Given the description of an element on the screen output the (x, y) to click on. 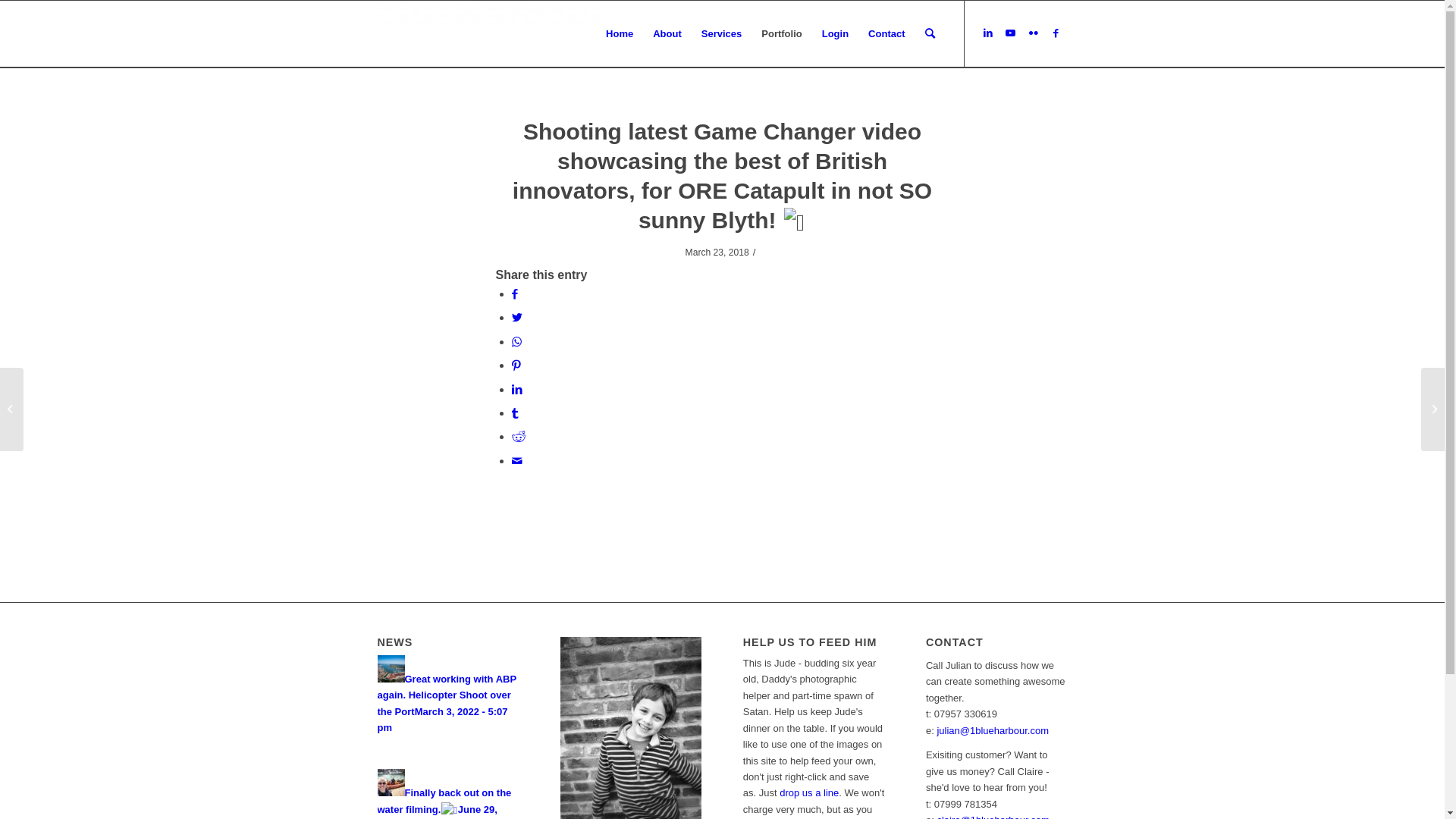
Portfolio Element type: text (781, 33)
Contact Element type: text (886, 33)
LinkedIn Element type: hover (987, 32)
Flickr Element type: hover (1033, 32)
Youtube Element type: hover (1010, 32)
Home Element type: text (619, 33)
About Element type: text (667, 33)
julian@1blueharbour.com Element type: text (992, 730)
Services Element type: text (721, 33)
Facebook Element type: hover (1055, 32)
drop us a line Element type: text (808, 792)
Login Element type: text (835, 33)
